Given the description of an element on the screen output the (x, y) to click on. 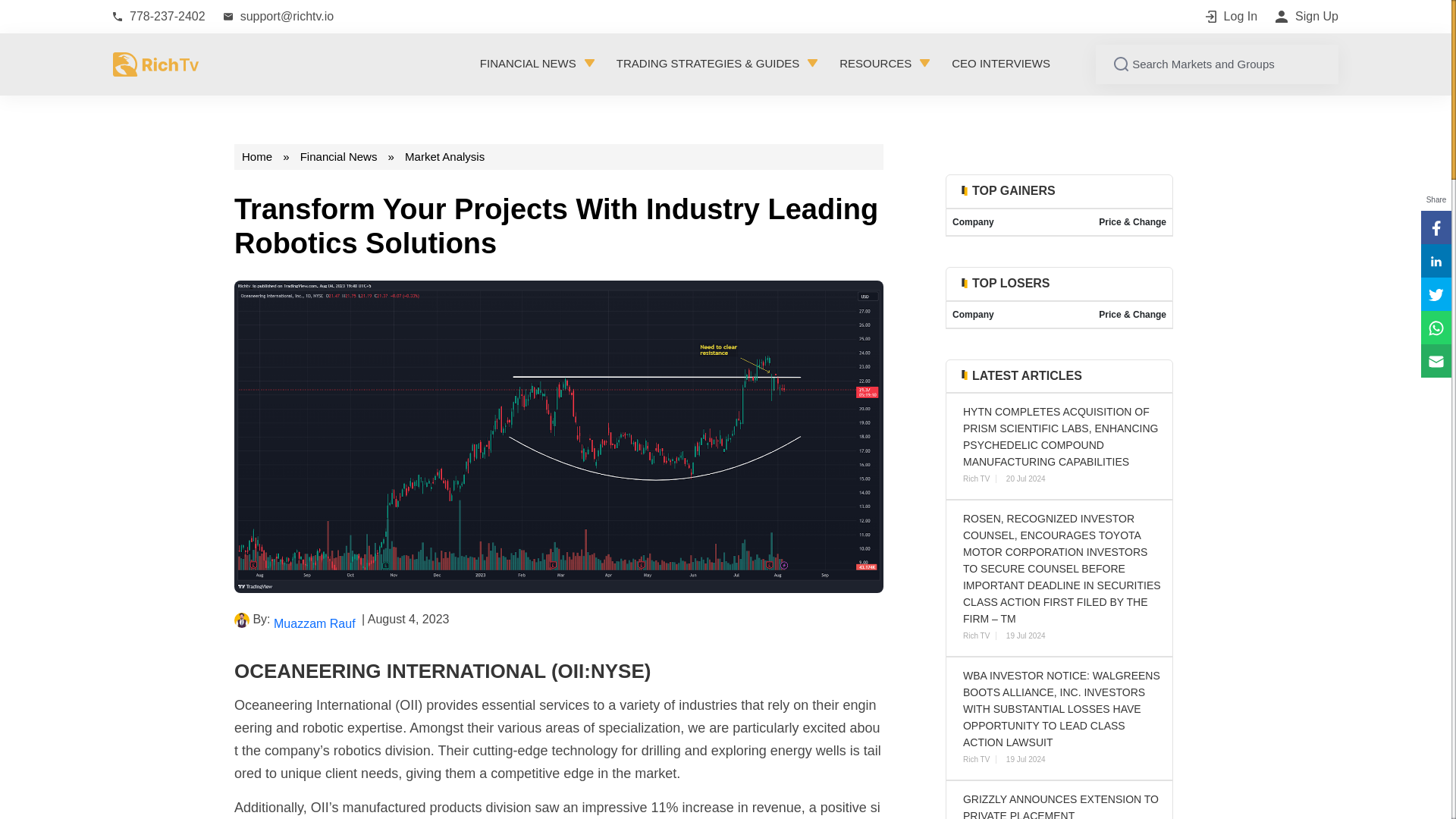
View all posts by Muazzam Rauf (315, 621)
778-237-2402 (159, 16)
Rich Tv (156, 62)
Log In (1231, 16)
Sign Up (1306, 16)
FINANCIAL NEWS (537, 63)
Rich Tv (156, 64)
Muazzam Rauf (241, 620)
RESOURCES (885, 63)
